Given the description of an element on the screen output the (x, y) to click on. 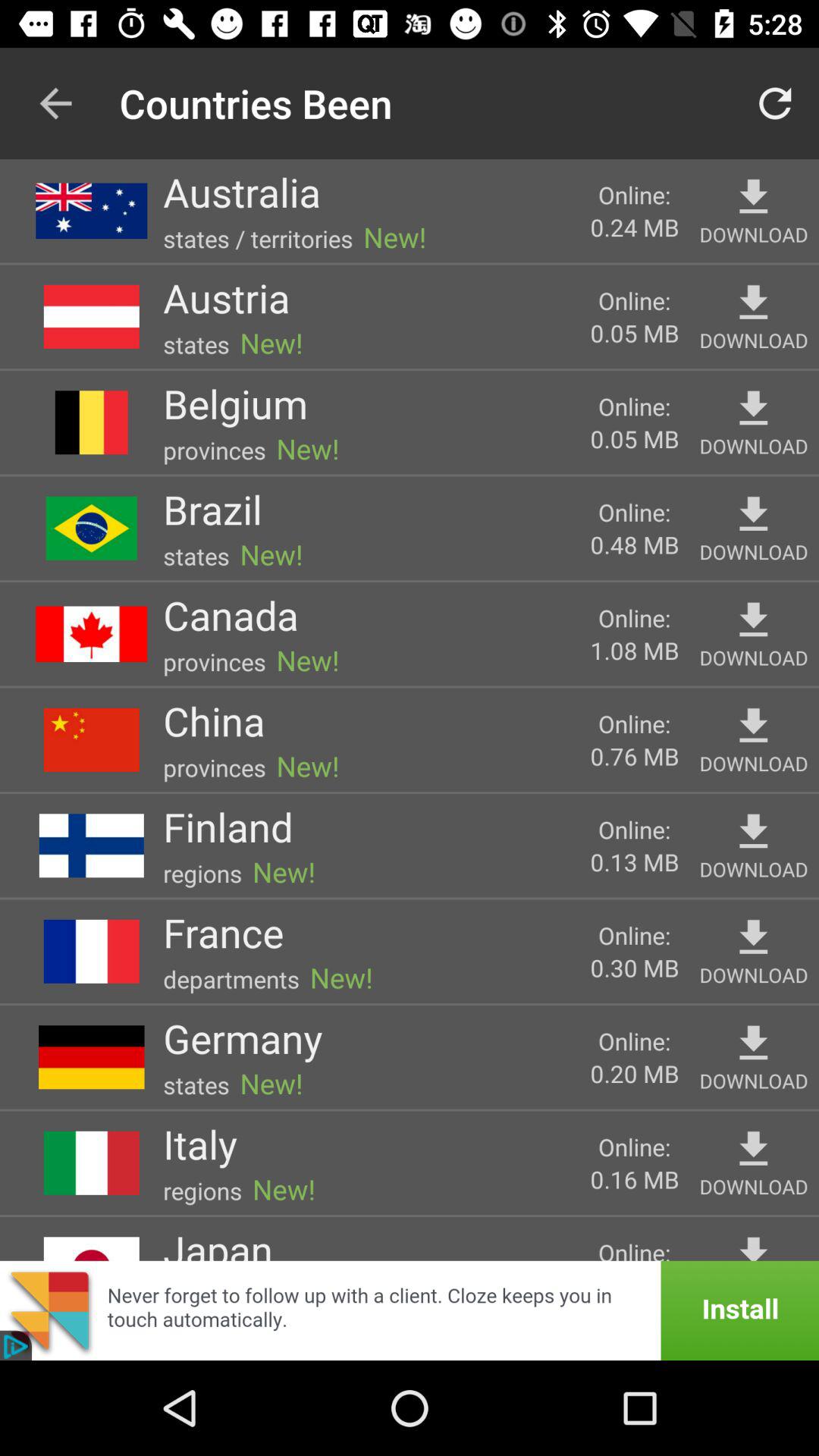
download item (753, 620)
